Given the description of an element on the screen output the (x, y) to click on. 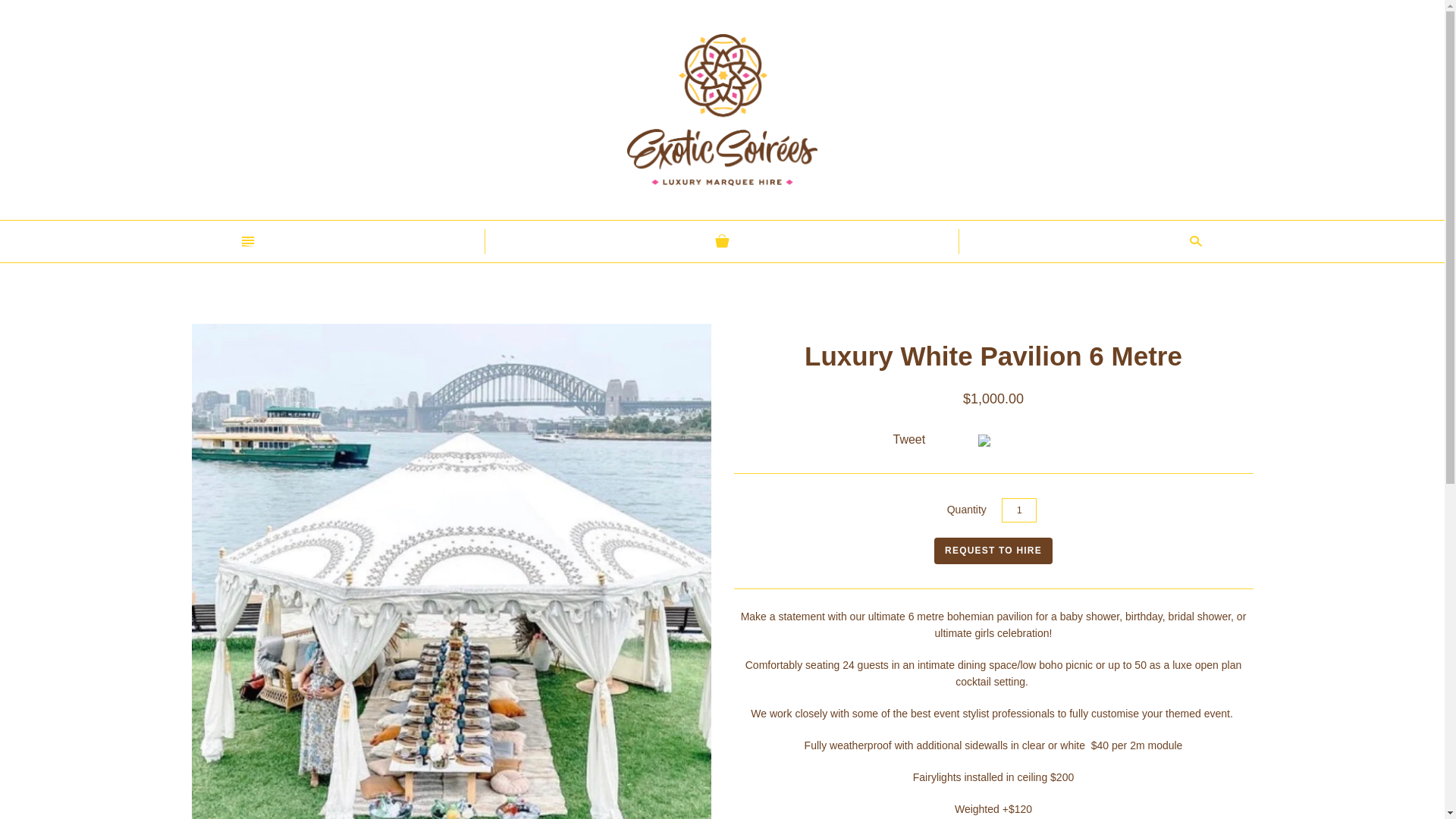
REQUEST TO HIRE Element type: text (993, 550)
Tweet Element type: text (909, 439)
